Given the description of an element on the screen output the (x, y) to click on. 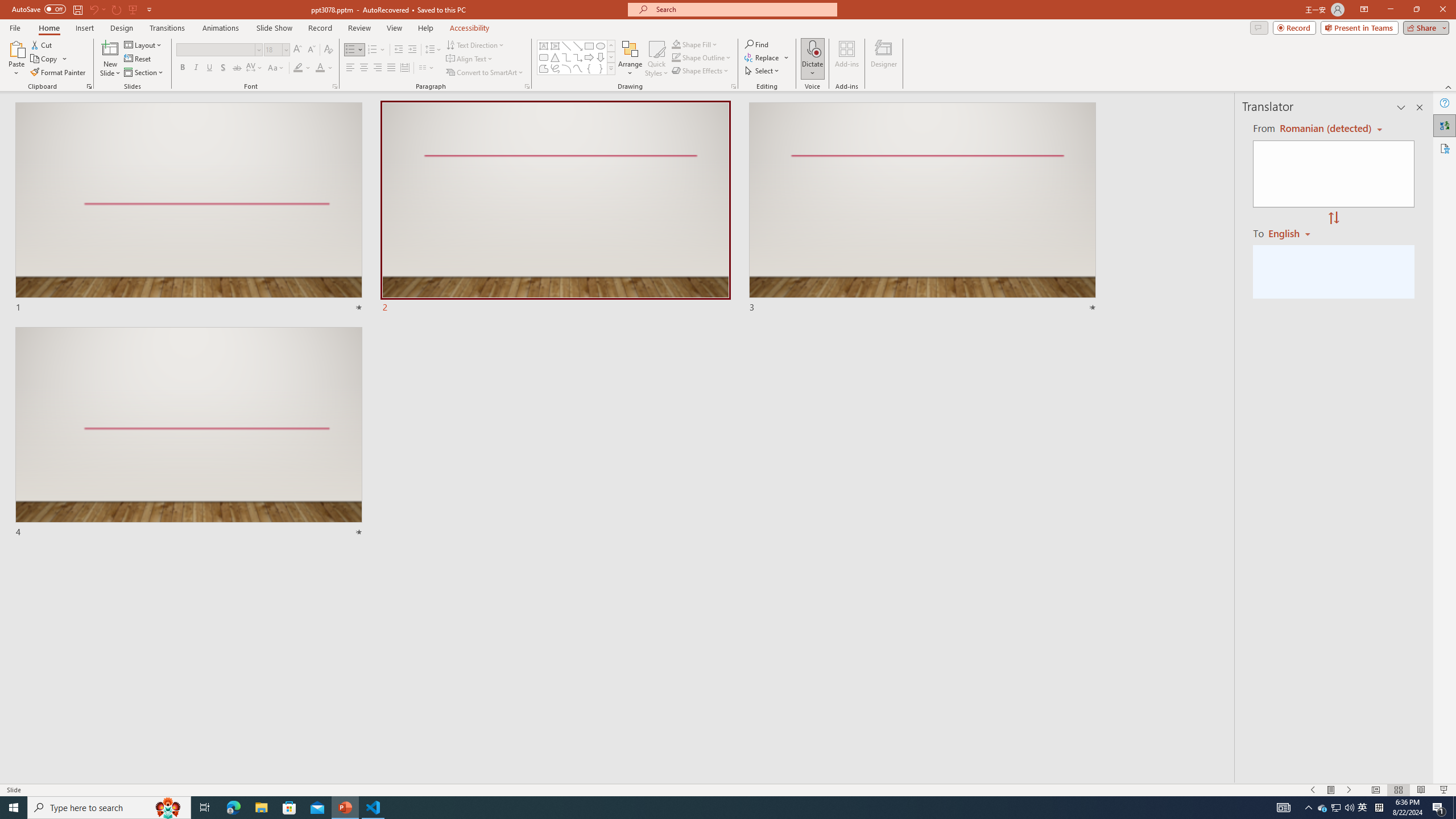
Romanian (1293, 232)
